Given the description of an element on the screen output the (x, y) to click on. 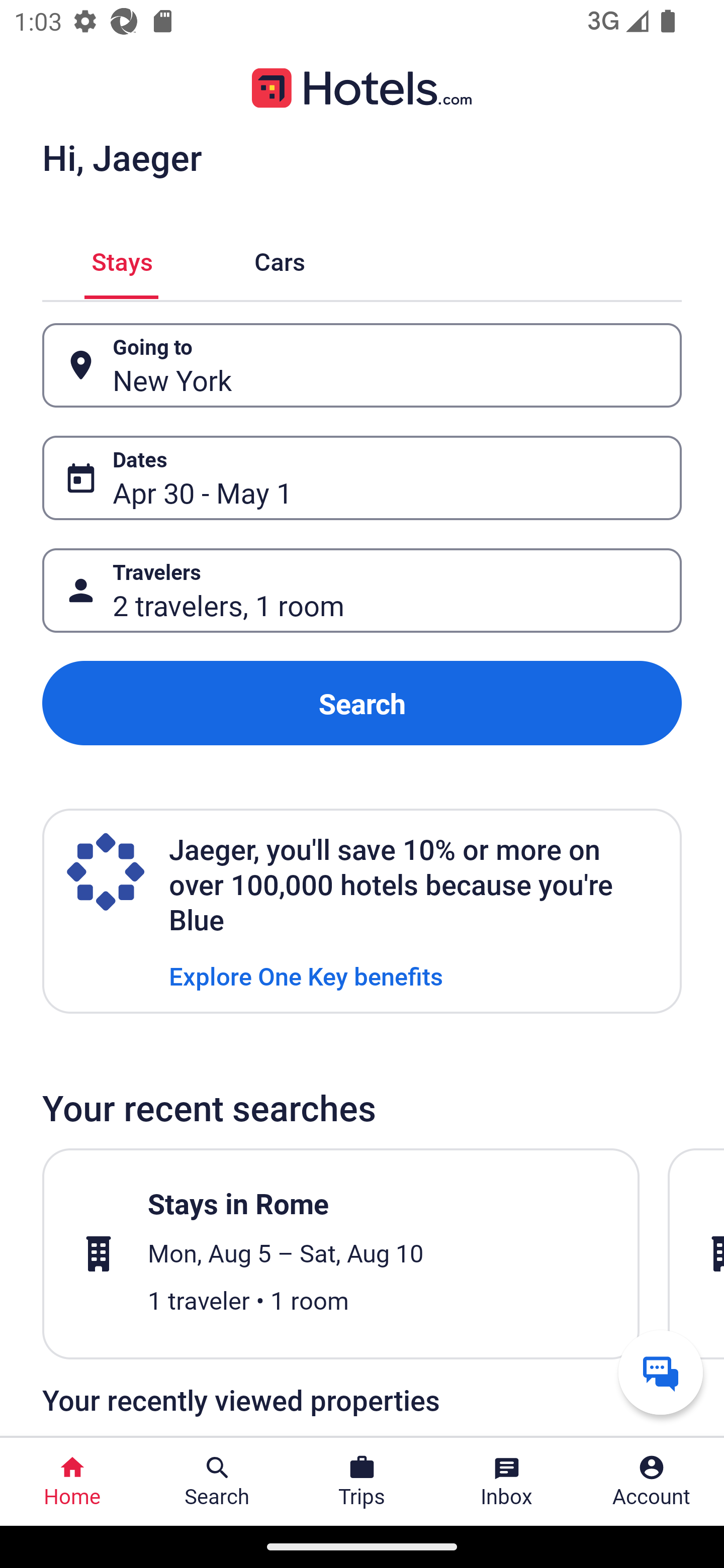
Hi, Jaeger (121, 156)
Cars (279, 259)
Going to Button New York (361, 365)
Dates Button Apr 30 - May 1 (361, 477)
Travelers Button 2 travelers, 1 room (361, 590)
Search (361, 702)
Get help from a virtual agent (660, 1371)
Search Search Button (216, 1481)
Trips Trips Button (361, 1481)
Inbox Inbox Button (506, 1481)
Account Profile. Button (651, 1481)
